Given the description of an element on the screen output the (x, y) to click on. 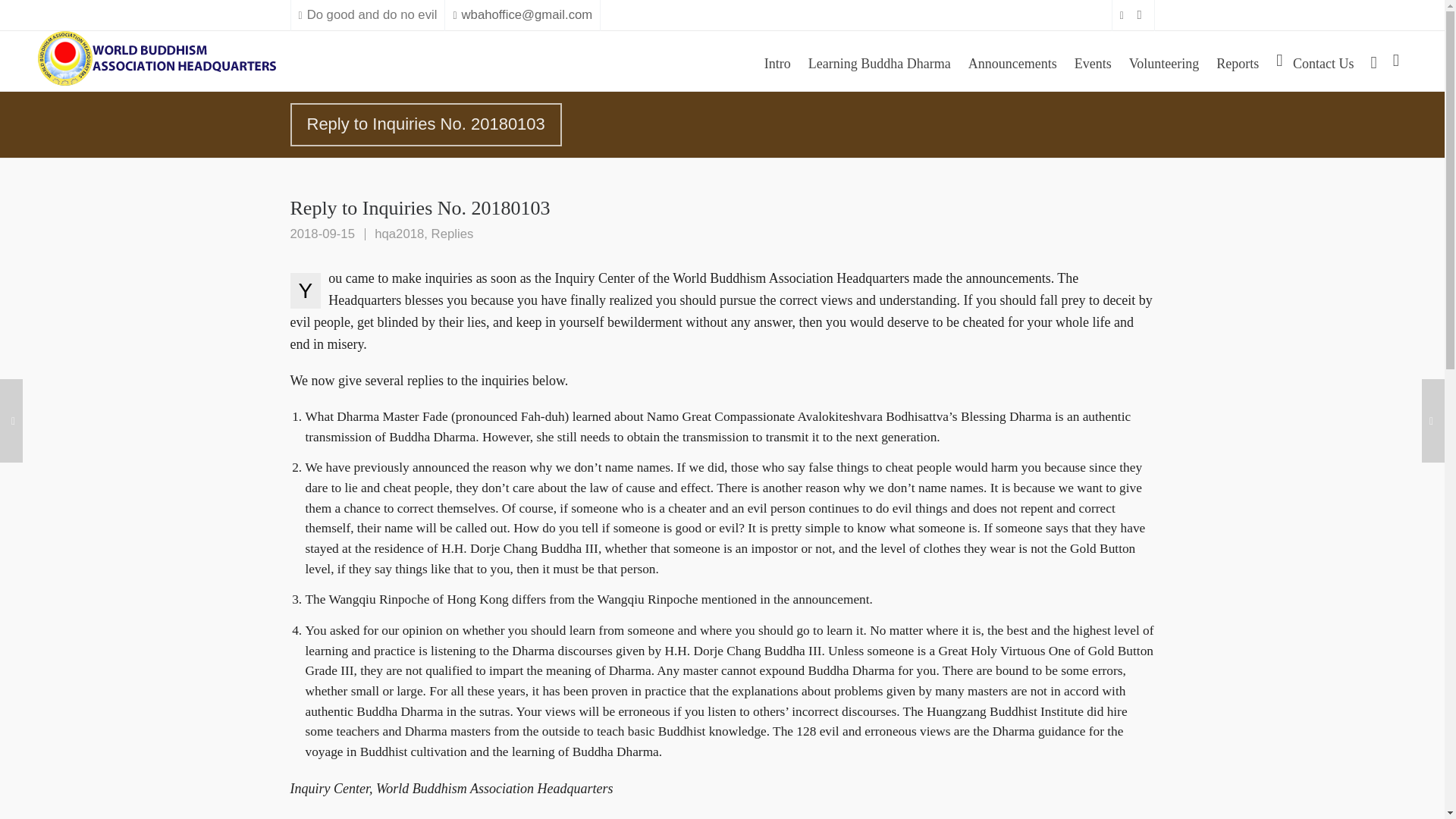
Announcements (1012, 61)
Learning Buddha Dharma (879, 61)
